Given the description of an element on the screen output the (x, y) to click on. 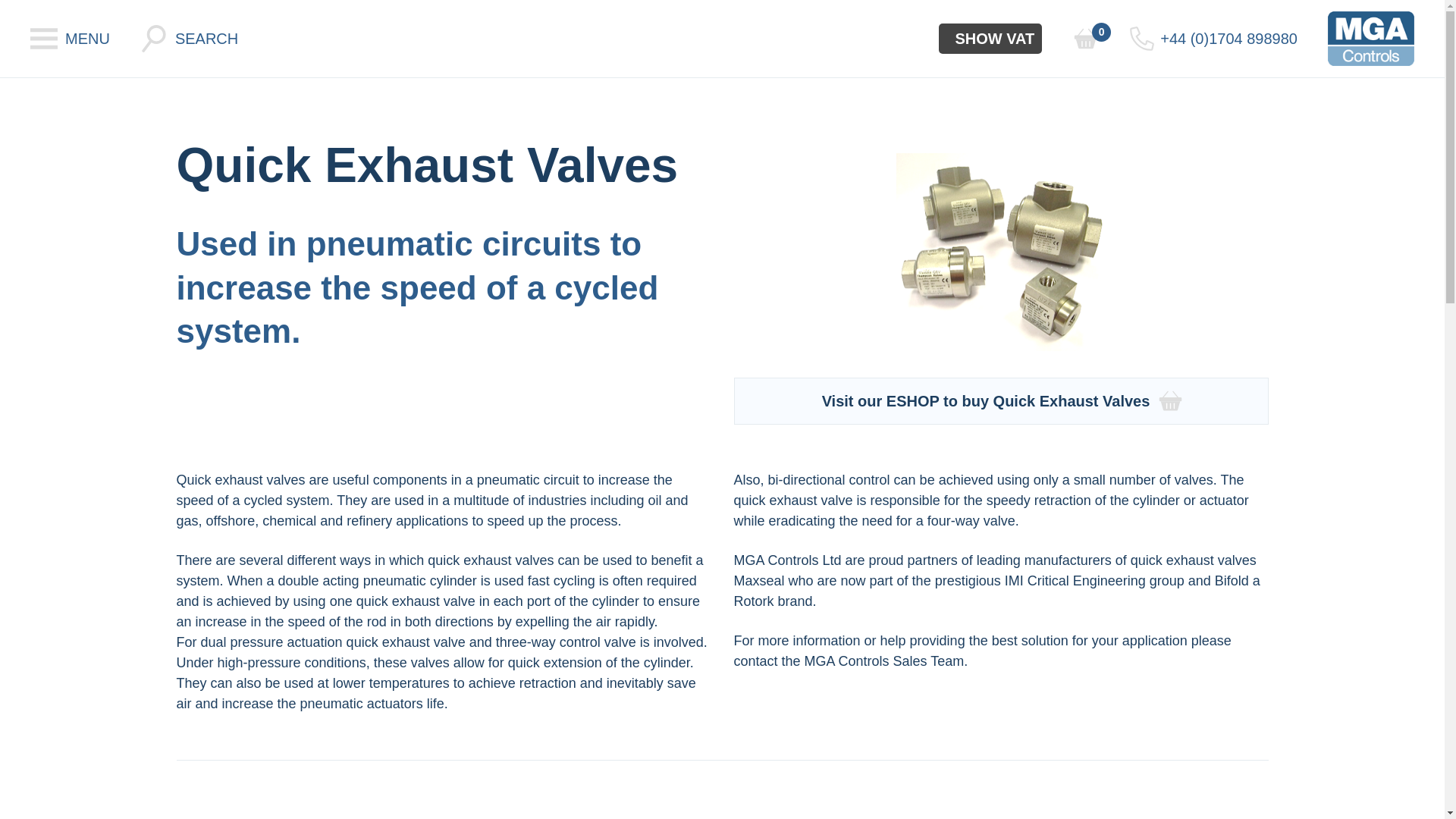
SHOW VAT (990, 38)
MENU (70, 38)
SEARCH (188, 38)
